Given the description of an element on the screen output the (x, y) to click on. 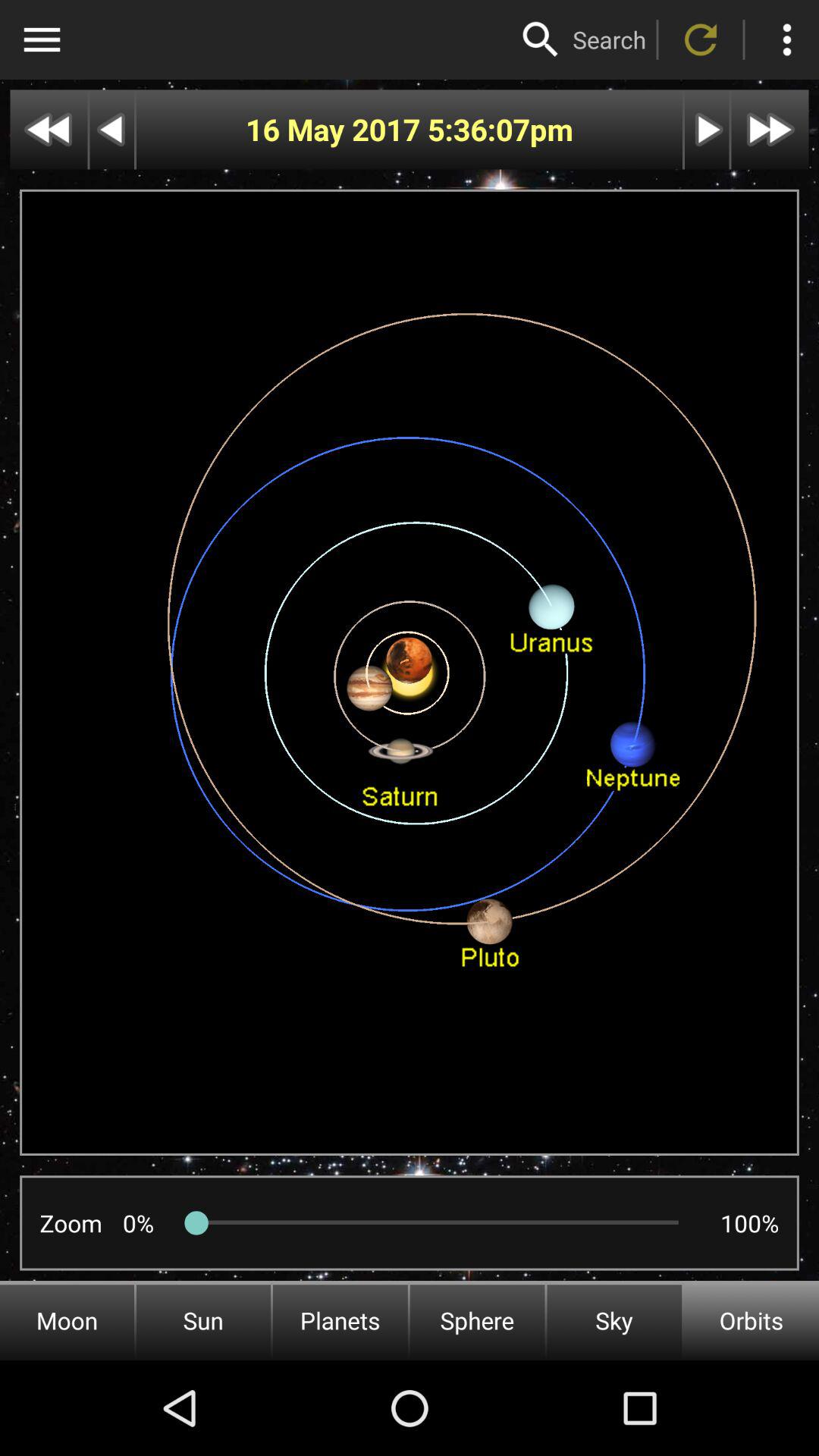
choose options (41, 39)
